Given the description of an element on the screen output the (x, y) to click on. 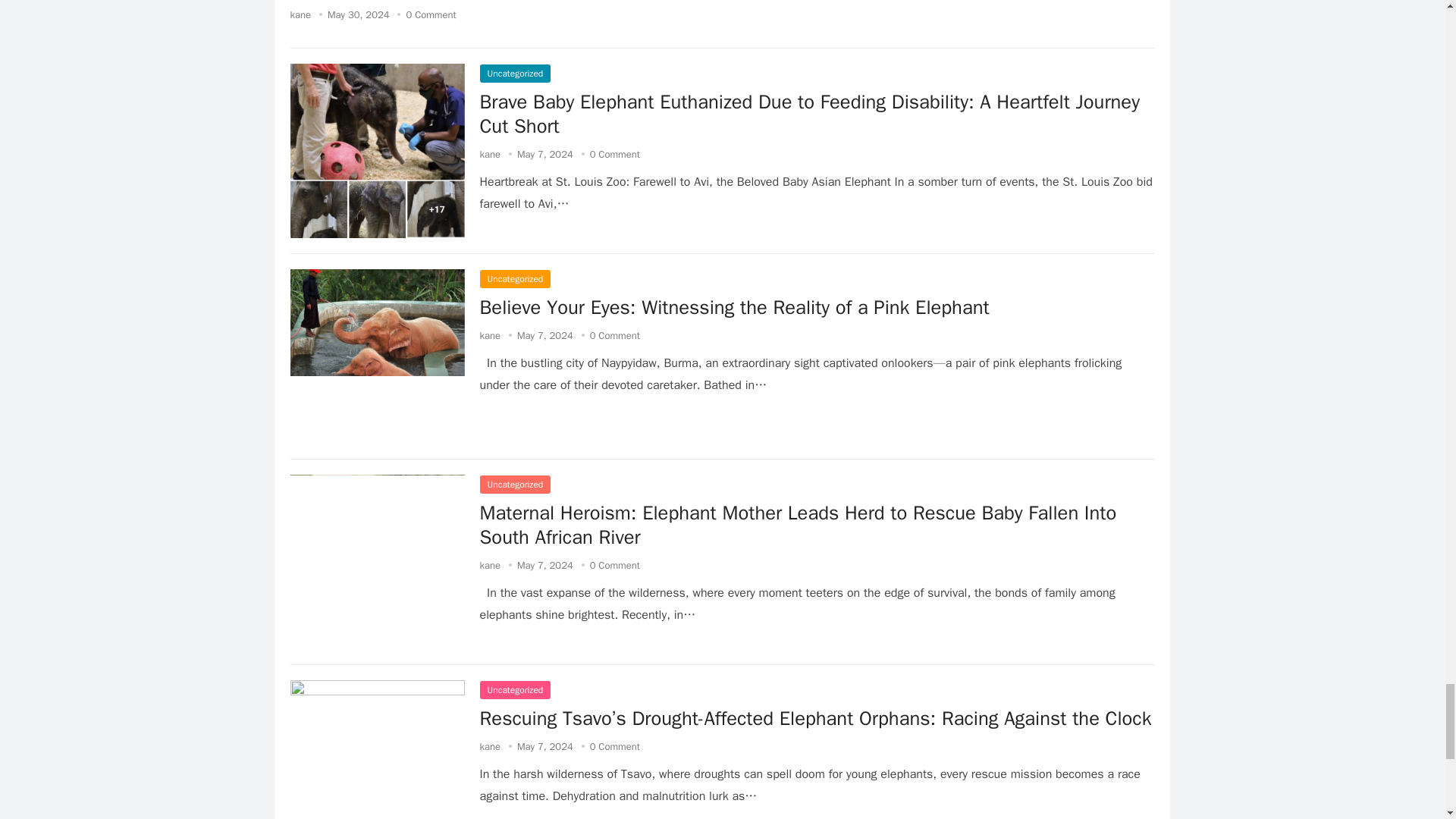
0 Comment (614, 154)
Posts by kane (489, 154)
Uncategorized (514, 73)
kane (300, 14)
kane (489, 335)
kane (489, 154)
Posts by kane (489, 335)
Believe Your Eyes: Witnessing the Reality of a Pink Elephant (733, 307)
0 Comment (430, 14)
Uncategorized (514, 279)
